Given the description of an element on the screen output the (x, y) to click on. 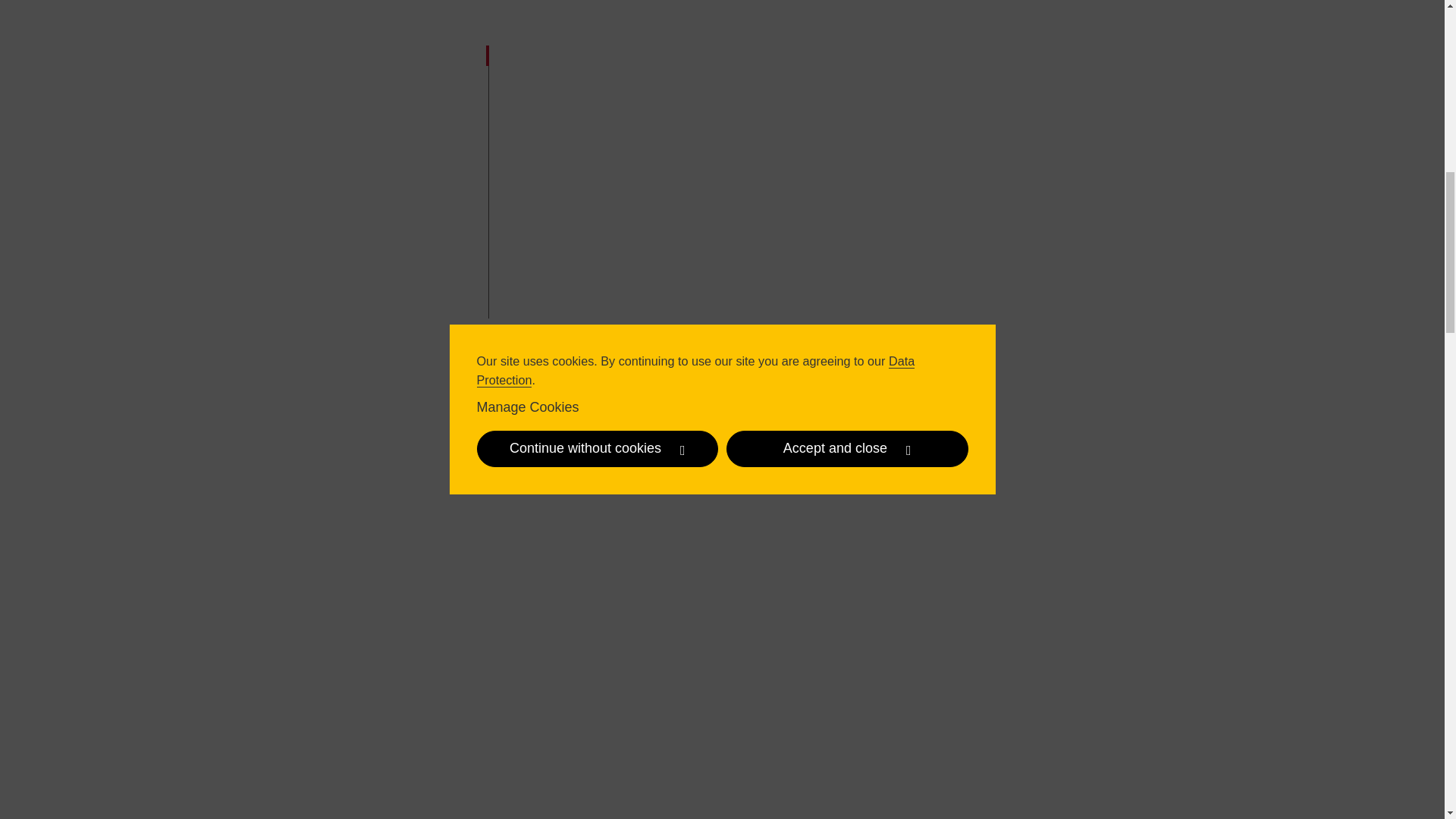
Electrical cabinets (388, 251)
Door manufacturing (388, 56)
Furniture production (388, 125)
Wrought iron gate (388, 194)
